Given the description of an element on the screen output the (x, y) to click on. 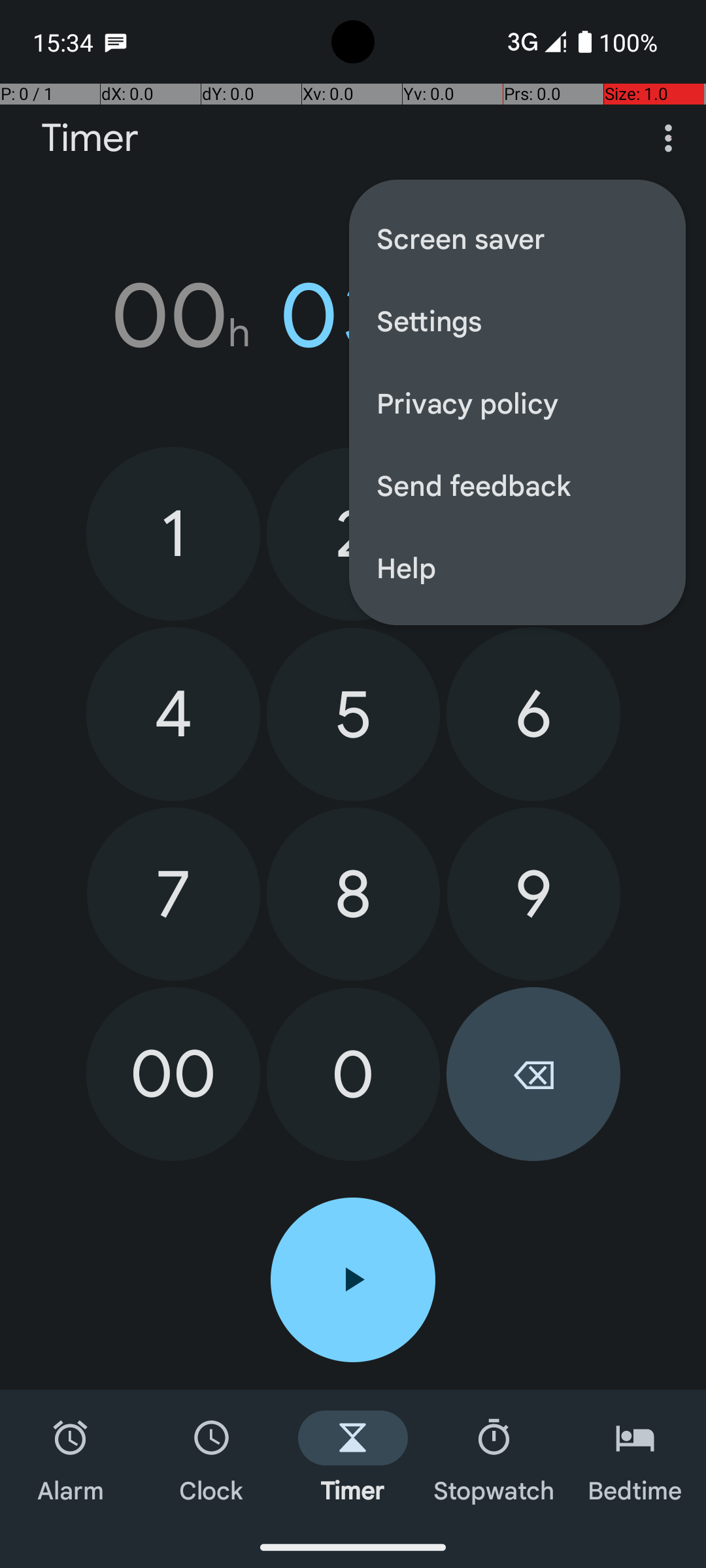
Screen saver Element type: android.widget.TextView (517, 237)
Privacy policy Element type: android.widget.TextView (517, 402)
Send feedback Element type: android.widget.TextView (517, 484)
Help Element type: android.widget.TextView (517, 566)
